Given the description of an element on the screen output the (x, y) to click on. 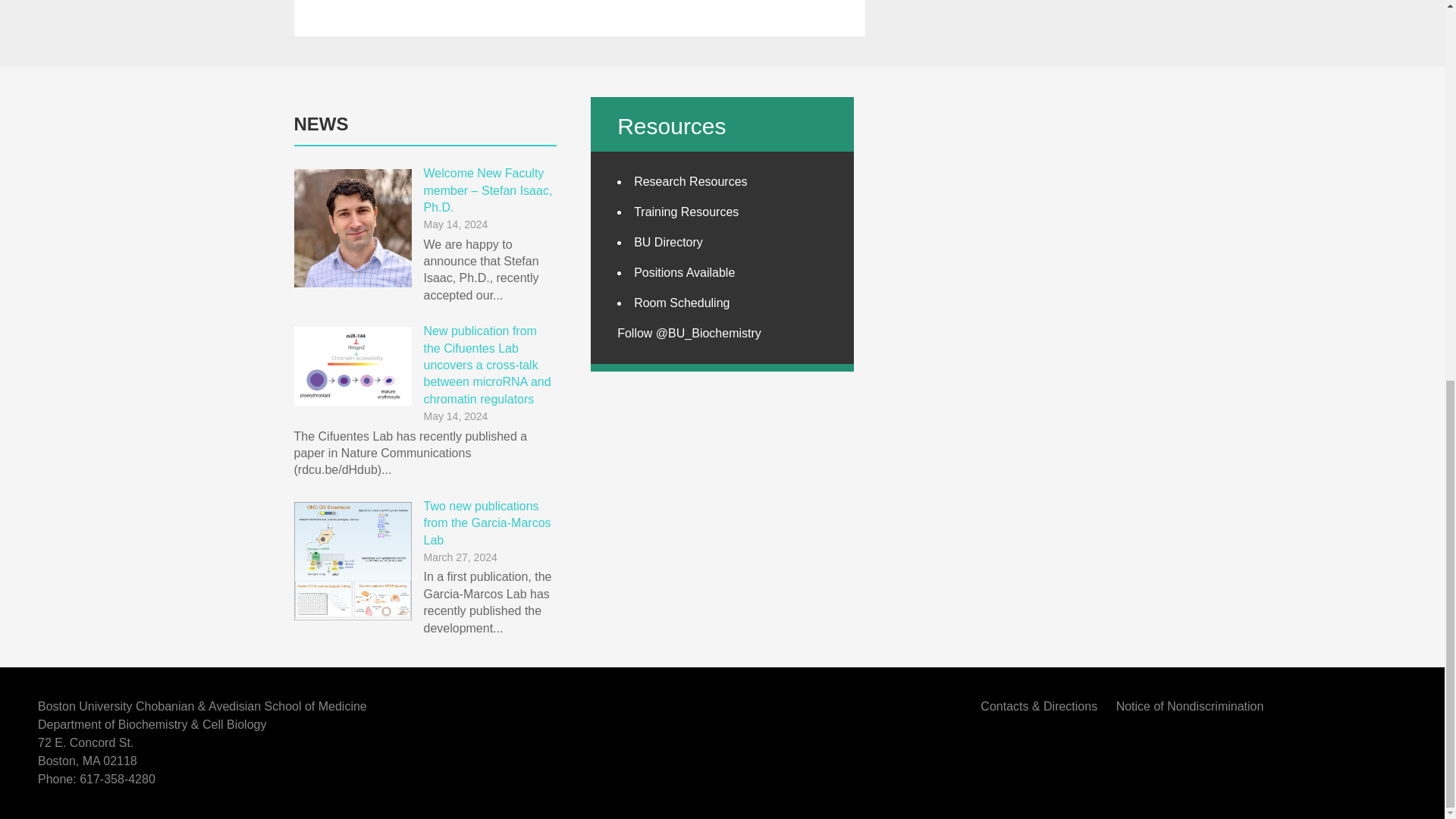
NEWS (321, 123)
Positions Available (684, 272)
Two new publications from the Garcia-Marcos Lab (486, 523)
Room Scheduling (681, 302)
BU Directory (668, 241)
Training Resources (685, 211)
Research Resources (689, 181)
